Given the description of an element on the screen output the (x, y) to click on. 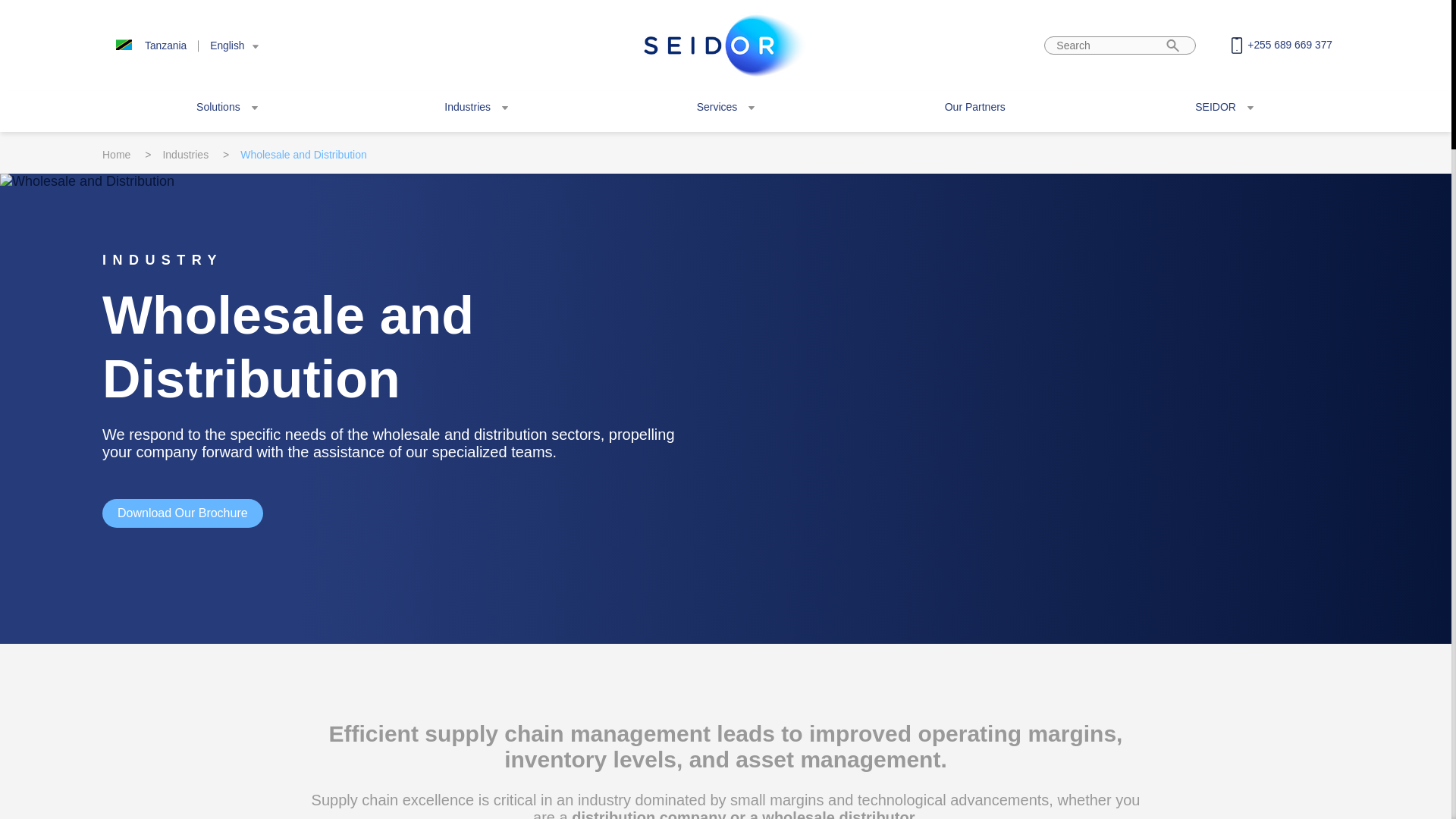
Search (1173, 45)
Seidor (725, 45)
Solutions (226, 106)
Our Partners (975, 106)
Our Partners (975, 106)
selector (182, 45)
Industries (476, 106)
SEIDOR (1224, 106)
Services (726, 106)
TanzaniaEnglish (182, 45)
